Given the description of an element on the screen output the (x, y) to click on. 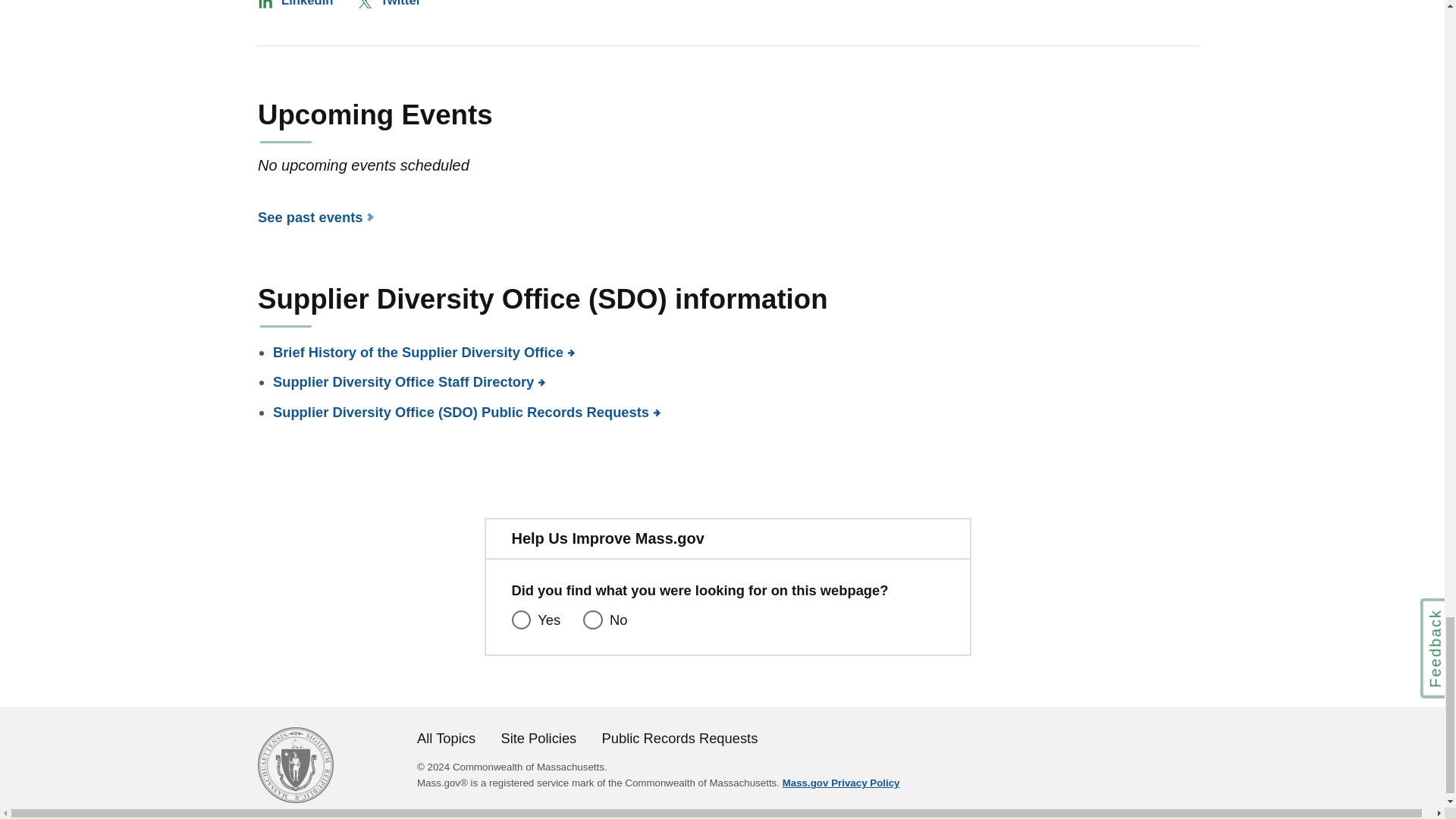
Mass.gov home page (295, 797)
